Given the description of an element on the screen output the (x, y) to click on. 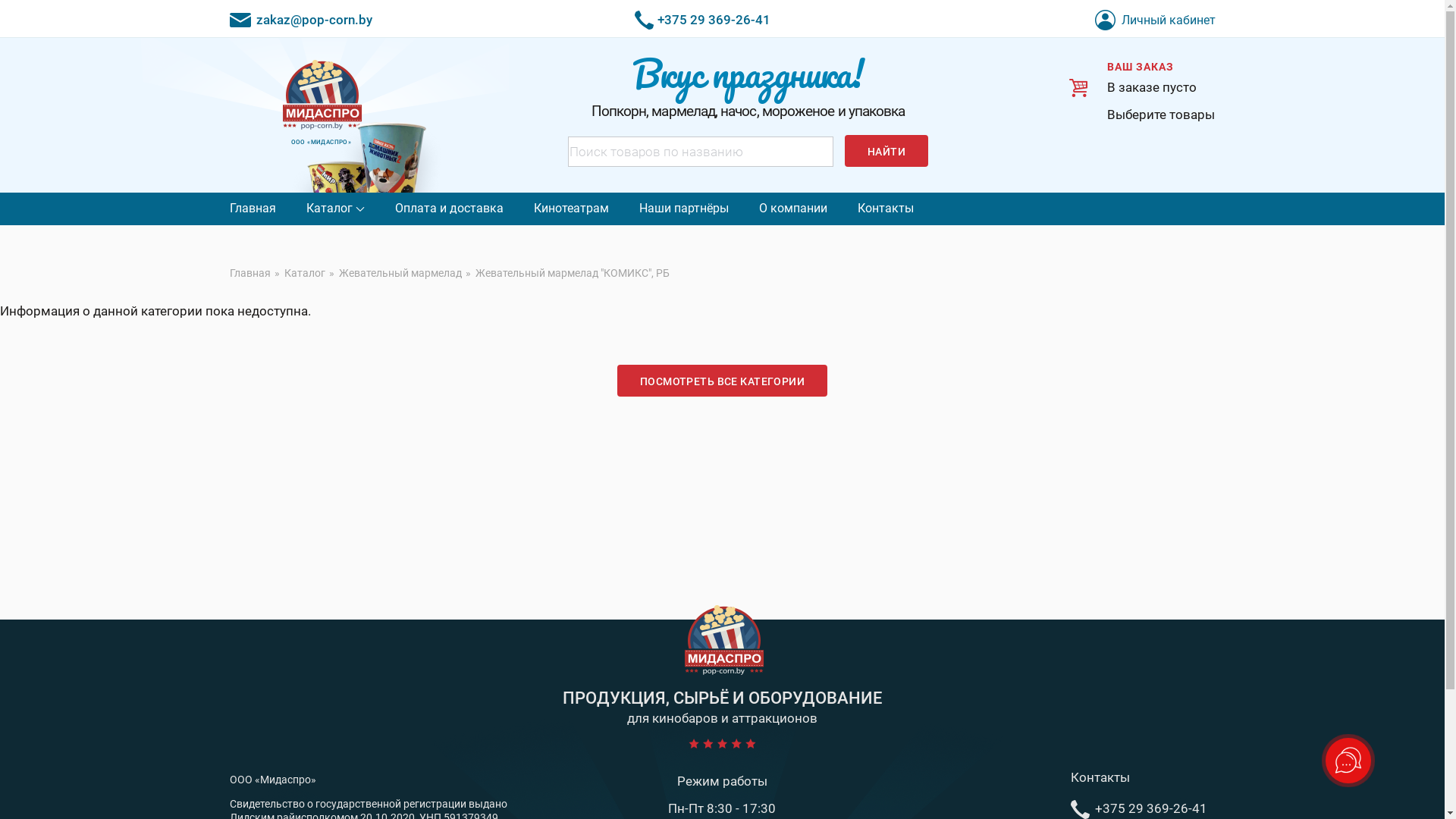
+375 29 369-26-41 Element type: text (702, 19)
zakaz@pop-corn.by Element type: text (300, 19)
